Given the description of an element on the screen output the (x, y) to click on. 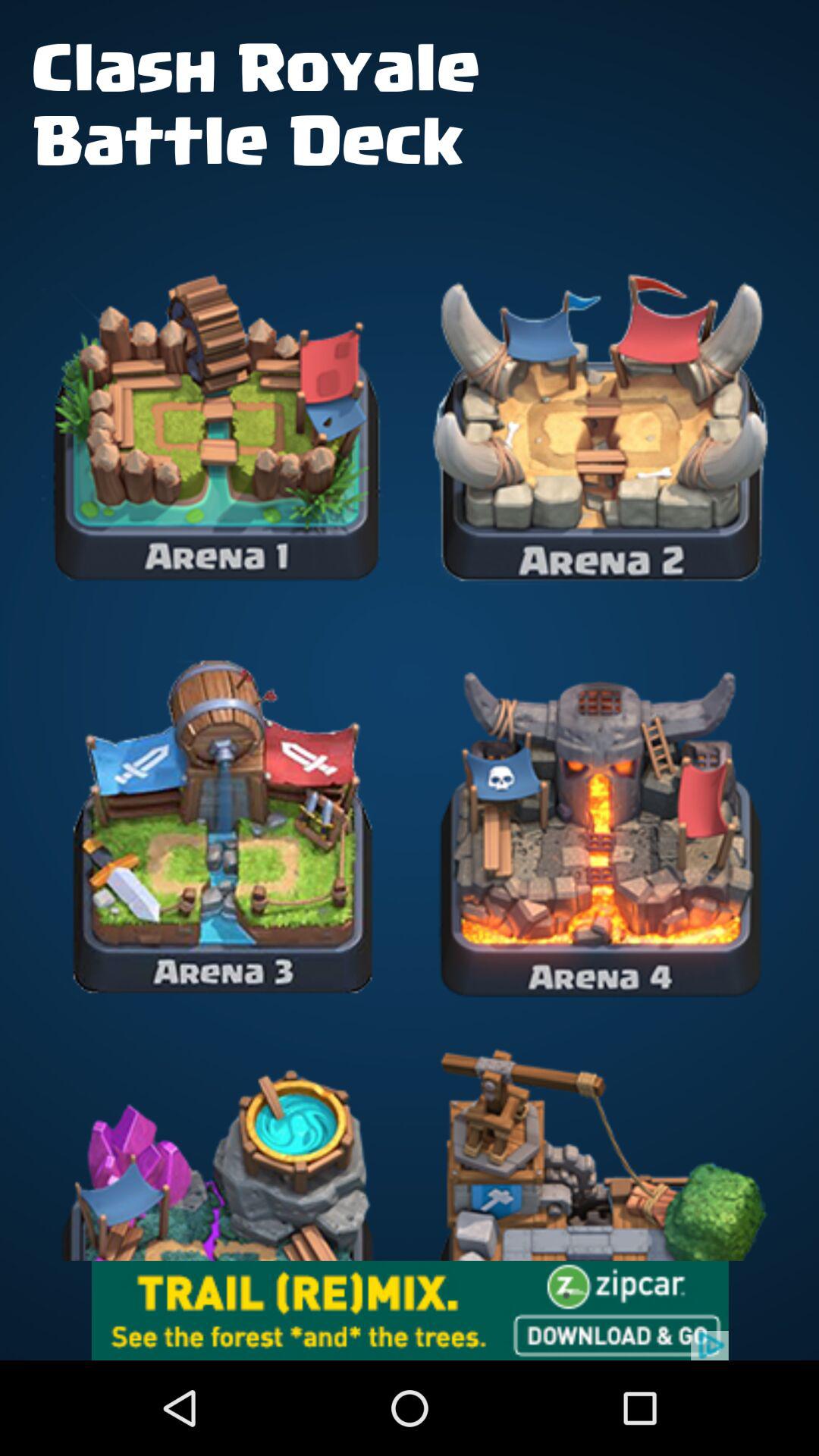
zip car advertisement that will redirect you for more info (409, 1310)
